Given the description of an element on the screen output the (x, y) to click on. 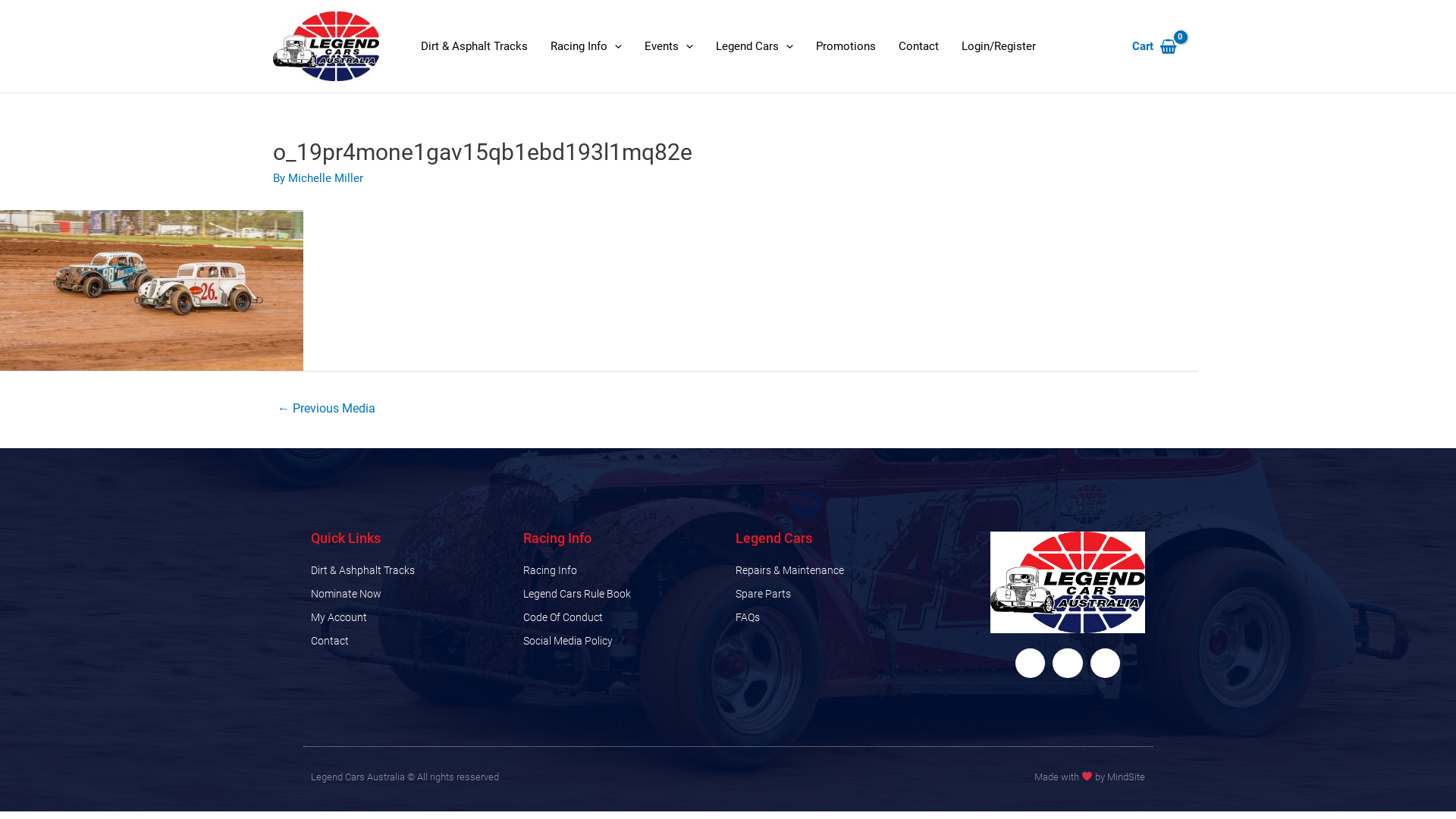
Racing Info Element type: text (586, 45)
Legend Cars Rule Book Element type: text (621, 593)
Dirt & Asphalt Tracks Element type: text (474, 45)
Made with by MindSite Element type: text (1089, 776)
FAQs Element type: text (833, 617)
Cart Element type: text (1154, 46)
Code Of Conduct Element type: text (621, 617)
Contact Element type: text (409, 640)
Racing Info Element type: text (621, 570)
Promotions Element type: text (845, 45)
Login/Register Element type: text (998, 45)
Contact Element type: text (918, 45)
Spare Parts Element type: text (833, 593)
My Account Element type: text (409, 617)
Nominate Now Element type: text (409, 593)
Legend Cars Element type: text (754, 45)
Events Element type: text (668, 45)
Michelle Miller Element type: text (325, 178)
Repairs & Maintenance Element type: text (833, 570)
Dirt & Ashphalt Tracks Element type: text (409, 570)
Social Media Policy Element type: text (621, 640)
